Given the description of an element on the screen output the (x, y) to click on. 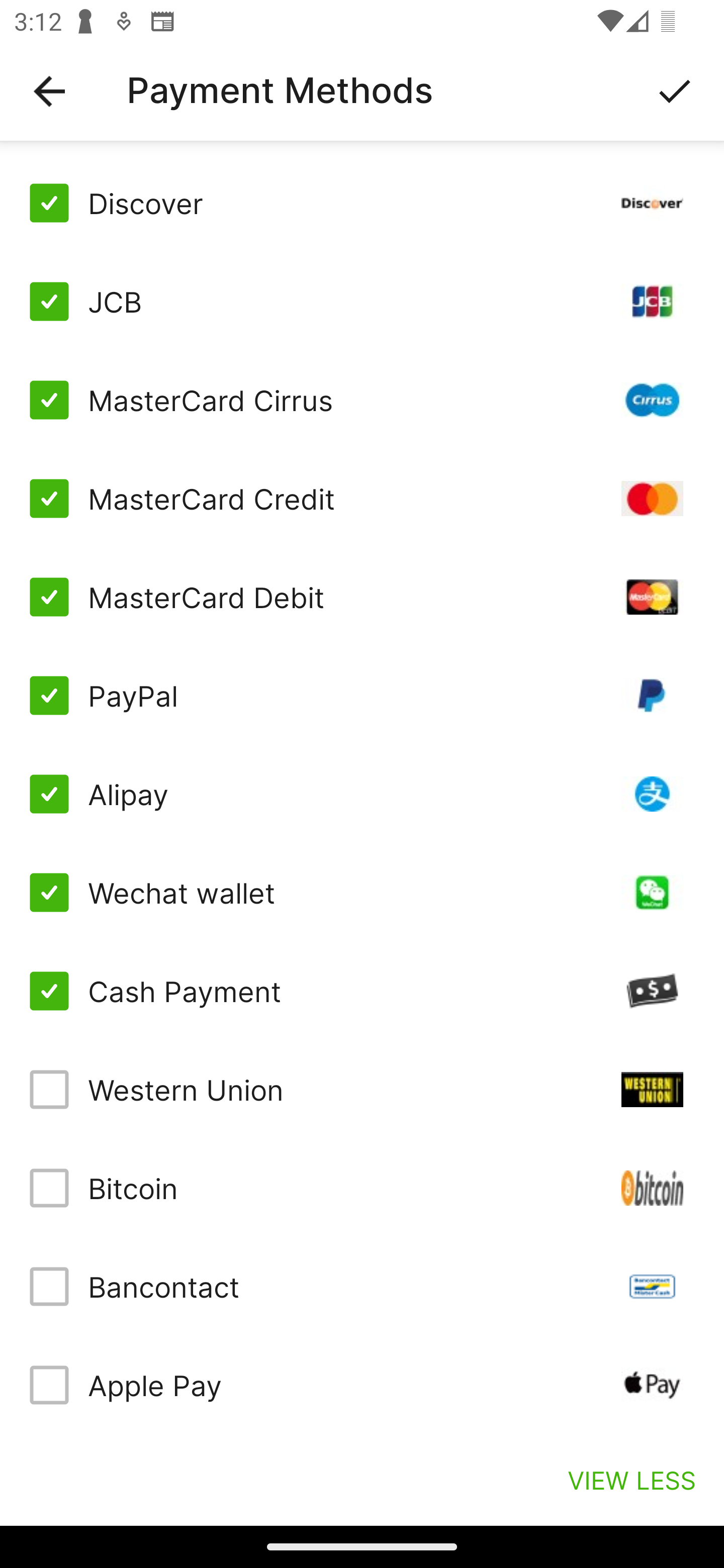
Discover (362, 202)
JCB (362, 301)
MasterCard Cirrus (362, 400)
MasterCard Credit (362, 498)
MasterCard Debit (362, 596)
PayPal (362, 695)
Alipay (362, 793)
Wechat wallet (362, 892)
Cash Payment (362, 990)
Western Union (362, 1088)
Bitcoin (362, 1187)
Bancontact (362, 1286)
Apple Pay (362, 1384)
VIEW LESS (631, 1479)
